Given the description of an element on the screen output the (x, y) to click on. 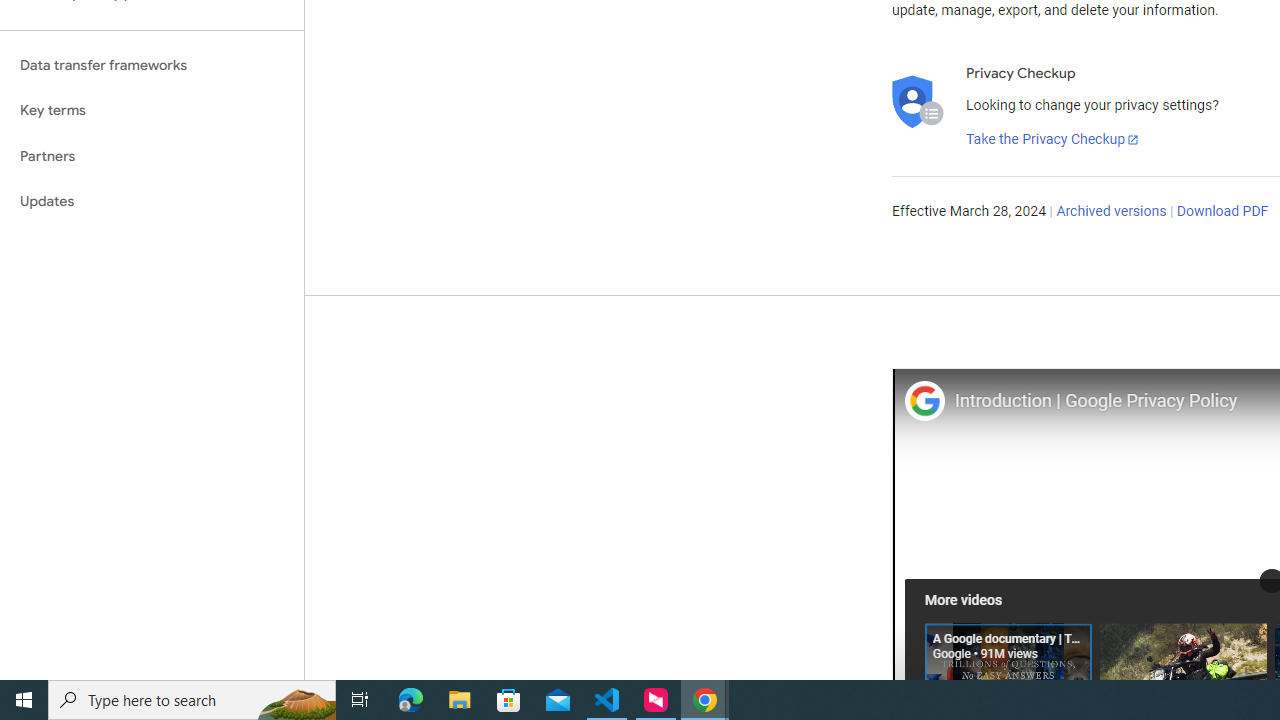
Partners (152, 156)
Data transfer frameworks (152, 65)
Download PDF (1222, 212)
The Guardians | SEARCH ON (1183, 668)
Photo image of Google (924, 400)
Take the Privacy Checkup (1053, 140)
Archived versions (1111, 212)
Key terms (152, 110)
